Given the description of an element on the screen output the (x, y) to click on. 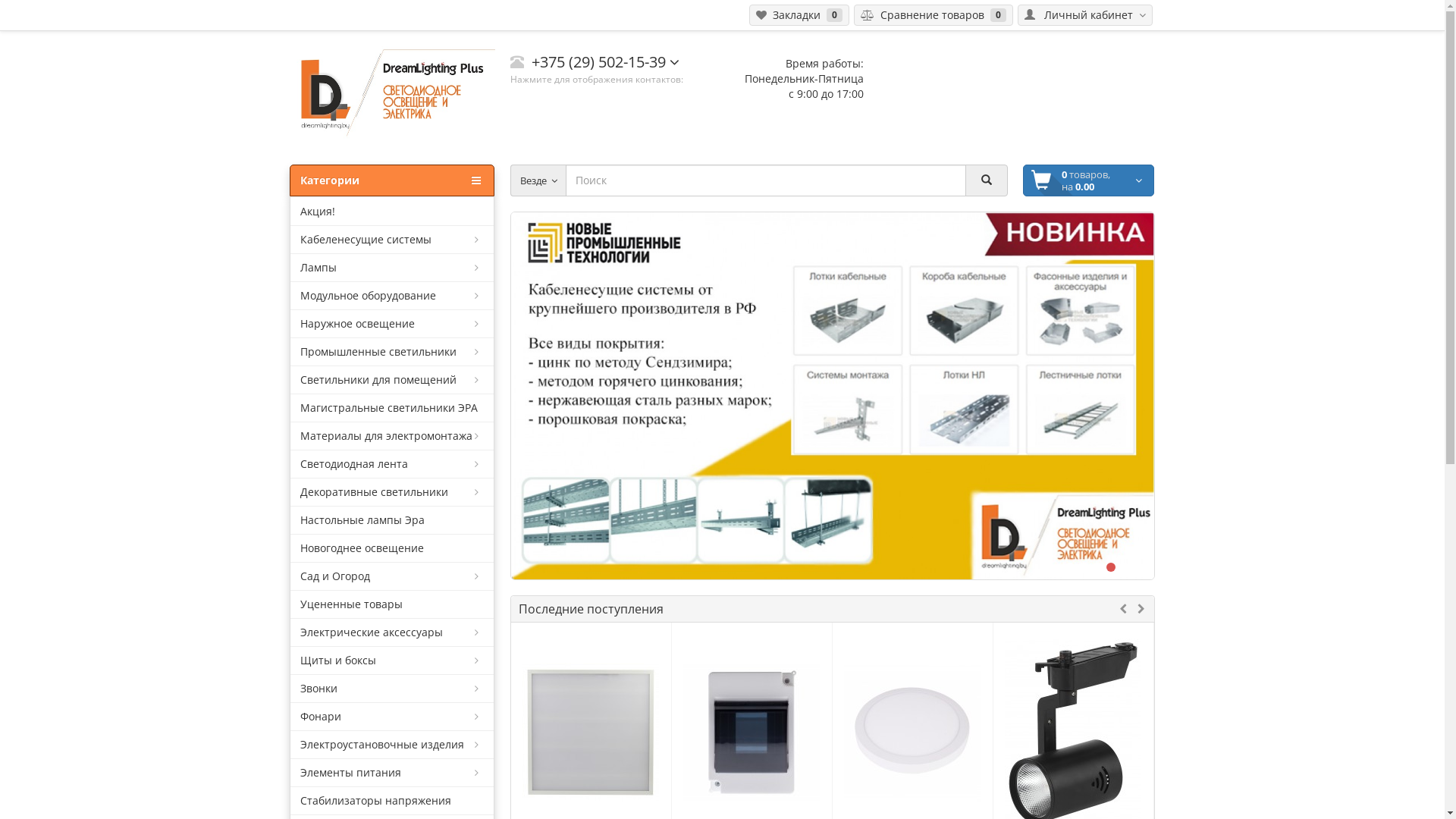
3 Element type: text (1096, 566)
4 Element type: text (1109, 566)
1 Element type: text (1068, 566)
5 Element type: text (1123, 566)
DreamLighting Plus Element type: hover (391, 97)
2 Element type: text (1082, 566)
6 Element type: text (1137, 566)
